Given the description of an element on the screen output the (x, y) to click on. 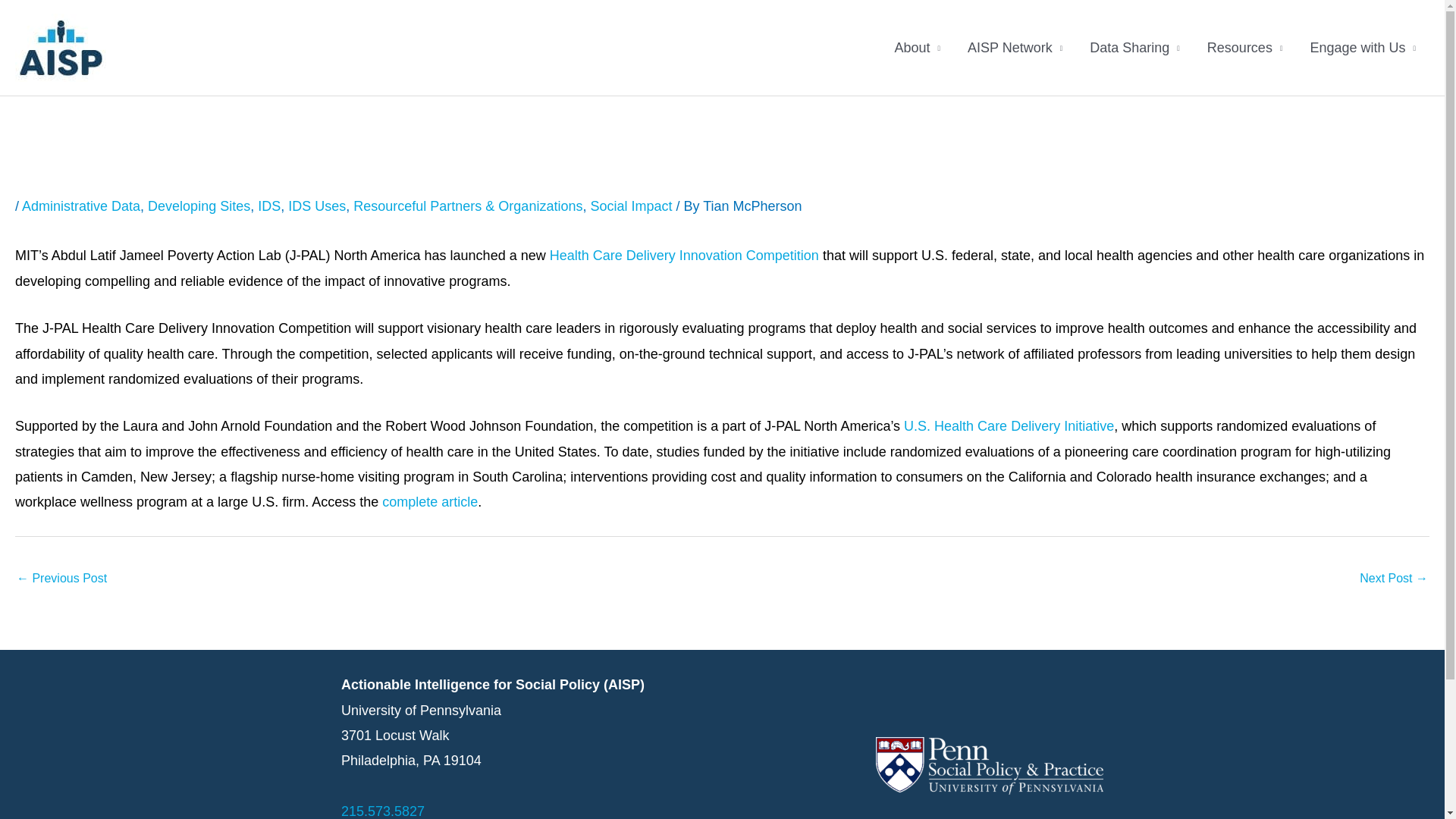
Social Impact (630, 206)
CMS Releases Medicare Data for Quality-Based Metrics (1393, 579)
Data Sharing (1134, 47)
View all posts by Tian McPherson (752, 206)
IDS Uses (317, 206)
Engage with Us (1362, 47)
IDS (269, 206)
Resources (1245, 47)
Administrative Data (80, 206)
AISP Network (1014, 47)
Developing Sites (199, 206)
